Given the description of an element on the screen output the (x, y) to click on. 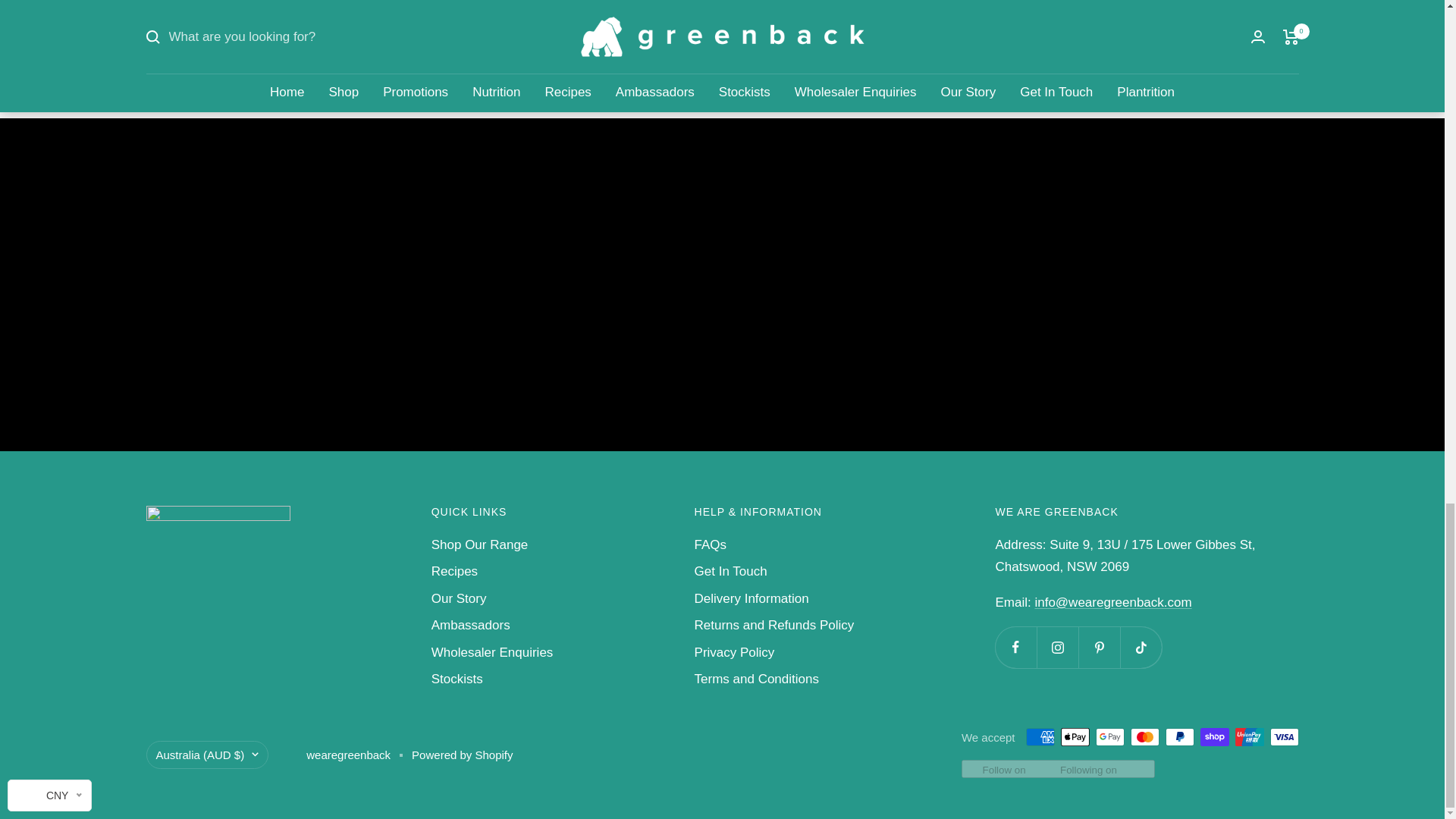
Recipes (453, 571)
Our Story (458, 598)
Shop Our Range (479, 544)
Ambassadors (470, 625)
